Given the description of an element on the screen output the (x, y) to click on. 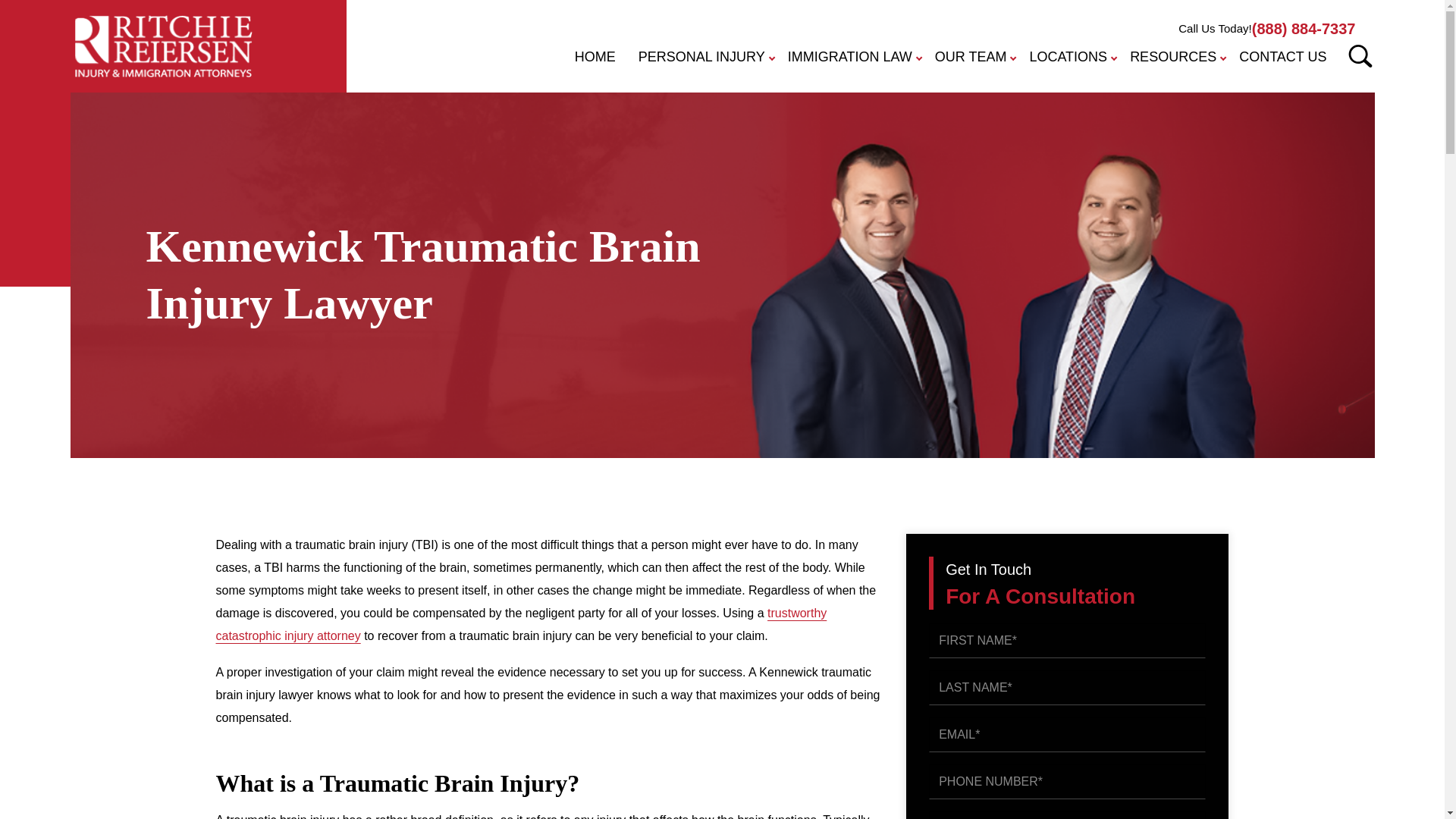
HOME (595, 57)
Search (1359, 55)
PERSONAL INJURY (701, 57)
IMMIGRATION LAW (850, 57)
LOCATIONS (1068, 57)
OUR TEAM (970, 57)
